Given the description of an element on the screen output the (x, y) to click on. 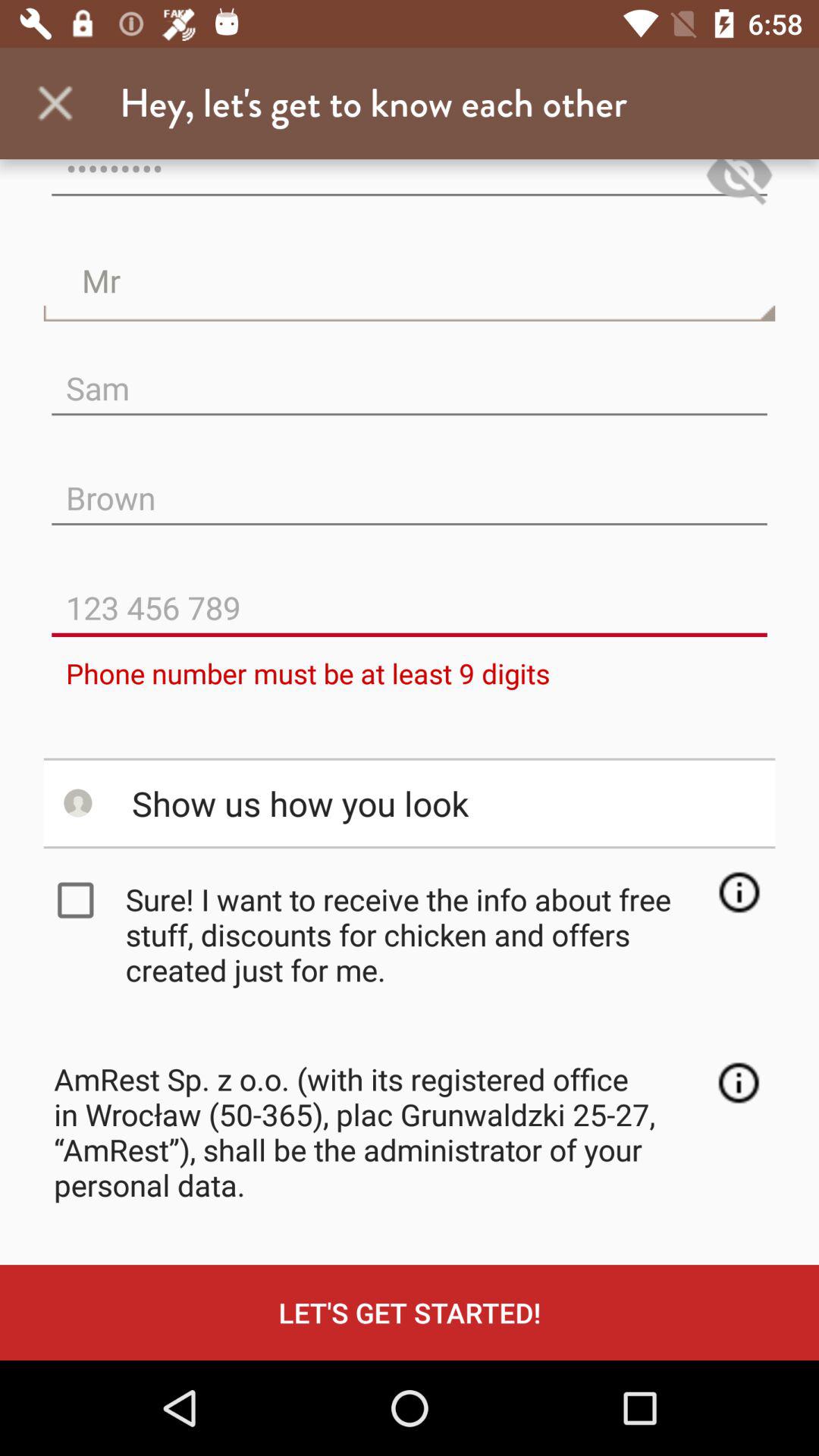
information (738, 1082)
